Given the description of an element on the screen output the (x, y) to click on. 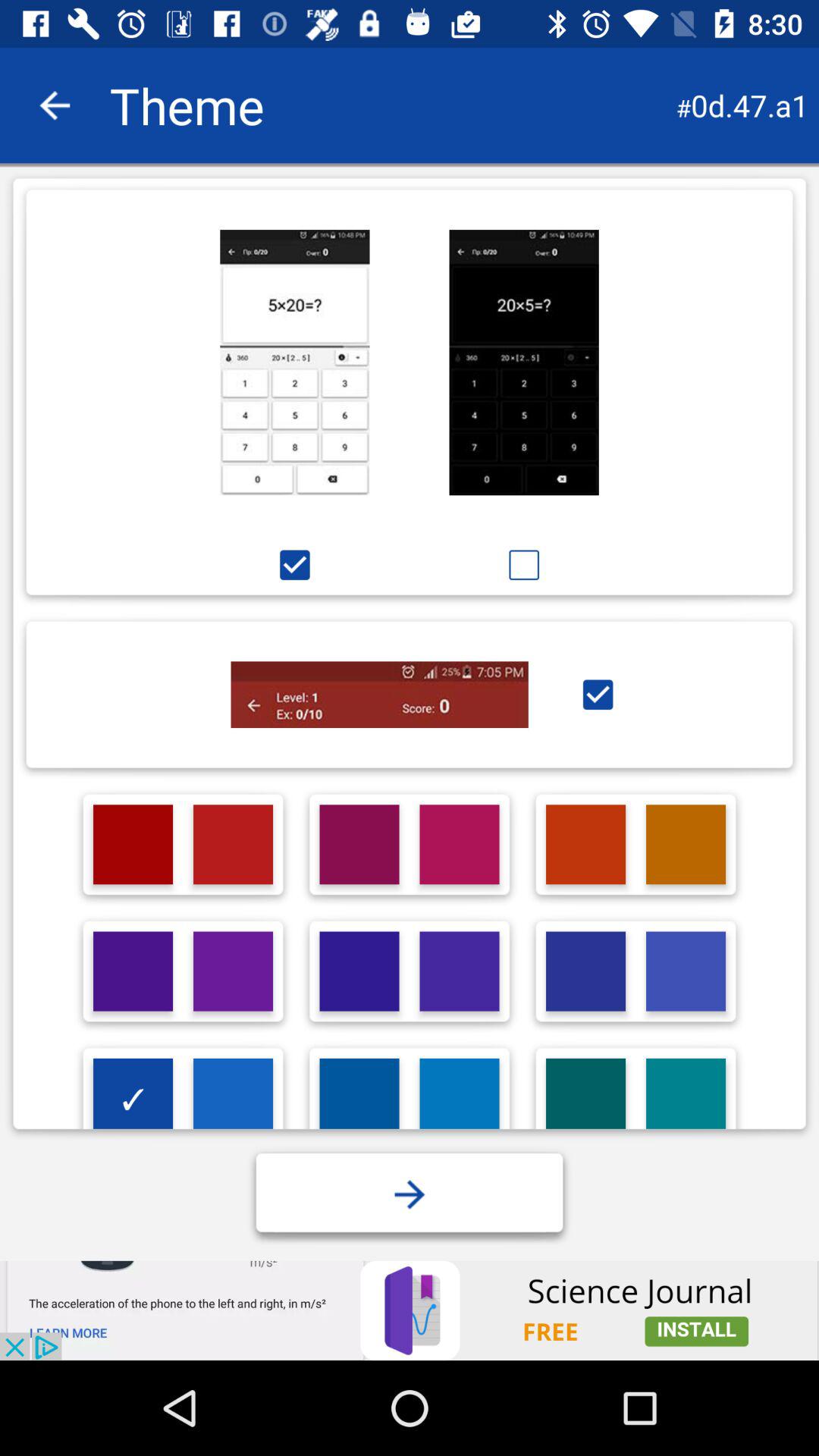
backward (54, 105)
